Given the description of an element on the screen output the (x, y) to click on. 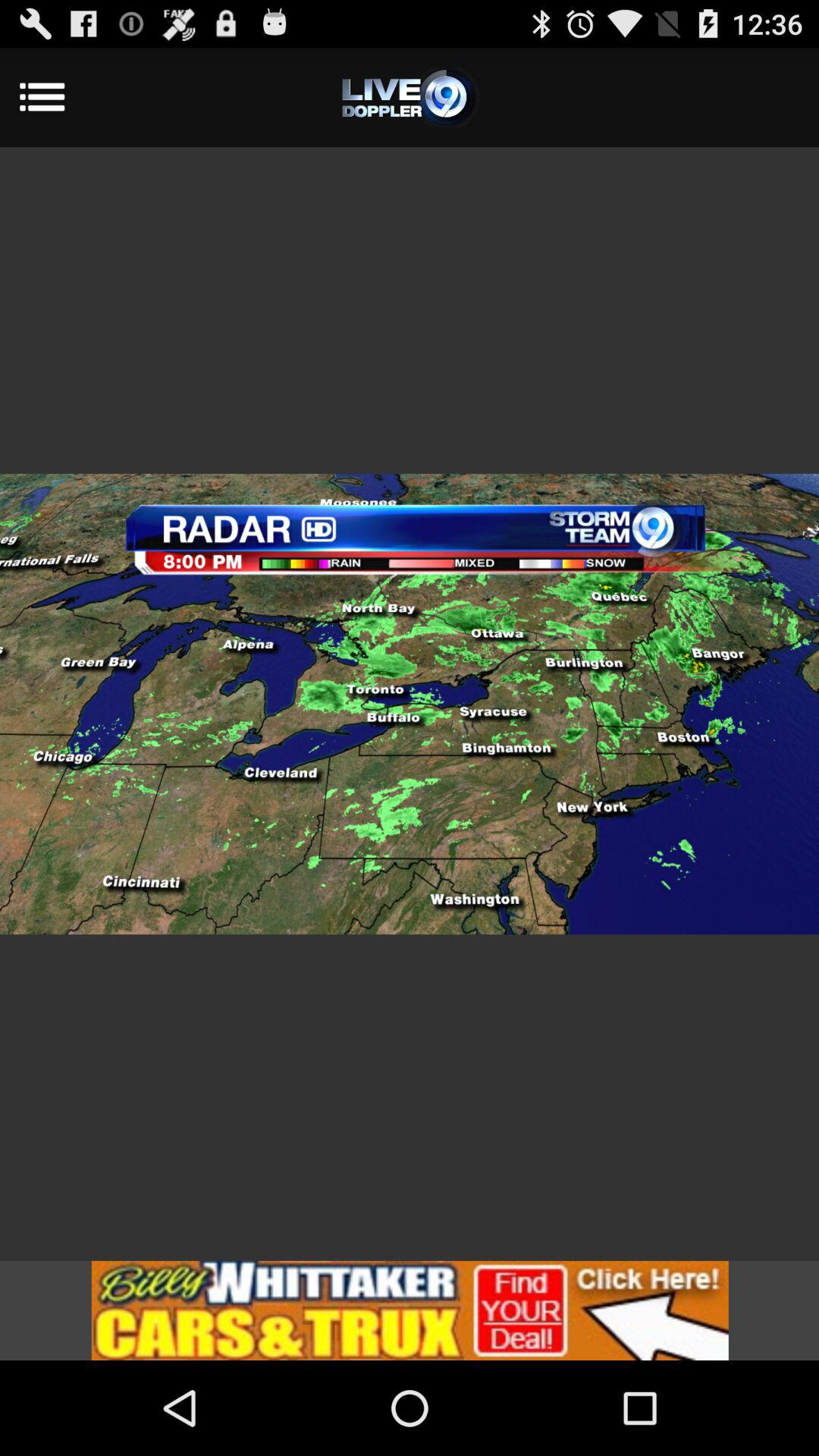
live doppler footage (409, 97)
